Given the description of an element on the screen output the (x, y) to click on. 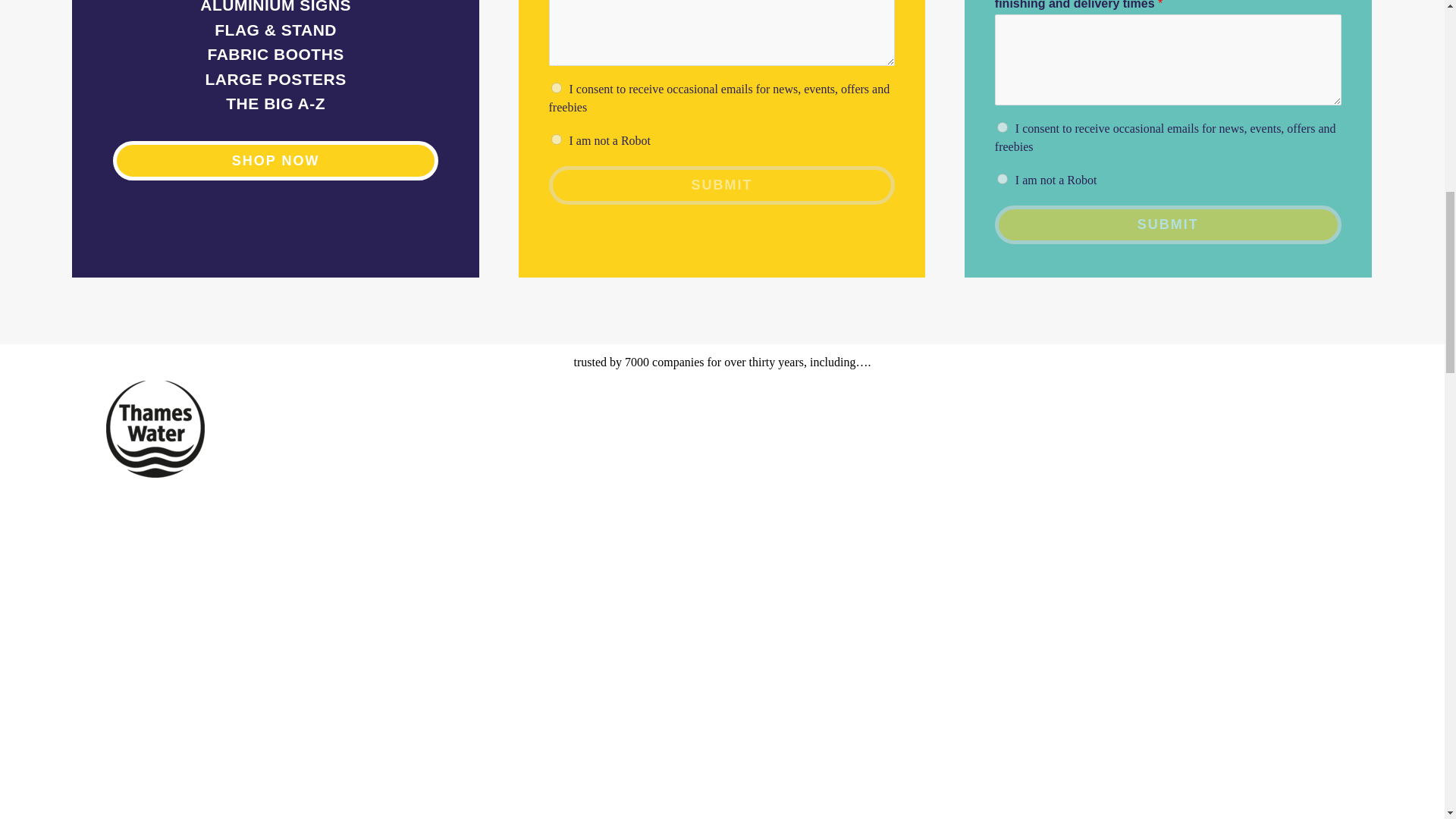
I am not a Robot (1002, 178)
ALUMINIUM SIGNS (275, 6)
I am not a Robot (556, 139)
FABRIC BOOTHS (274, 54)
LARGE POSTERS (275, 78)
THE BIG A-Z (274, 103)
